Given the description of an element on the screen output the (x, y) to click on. 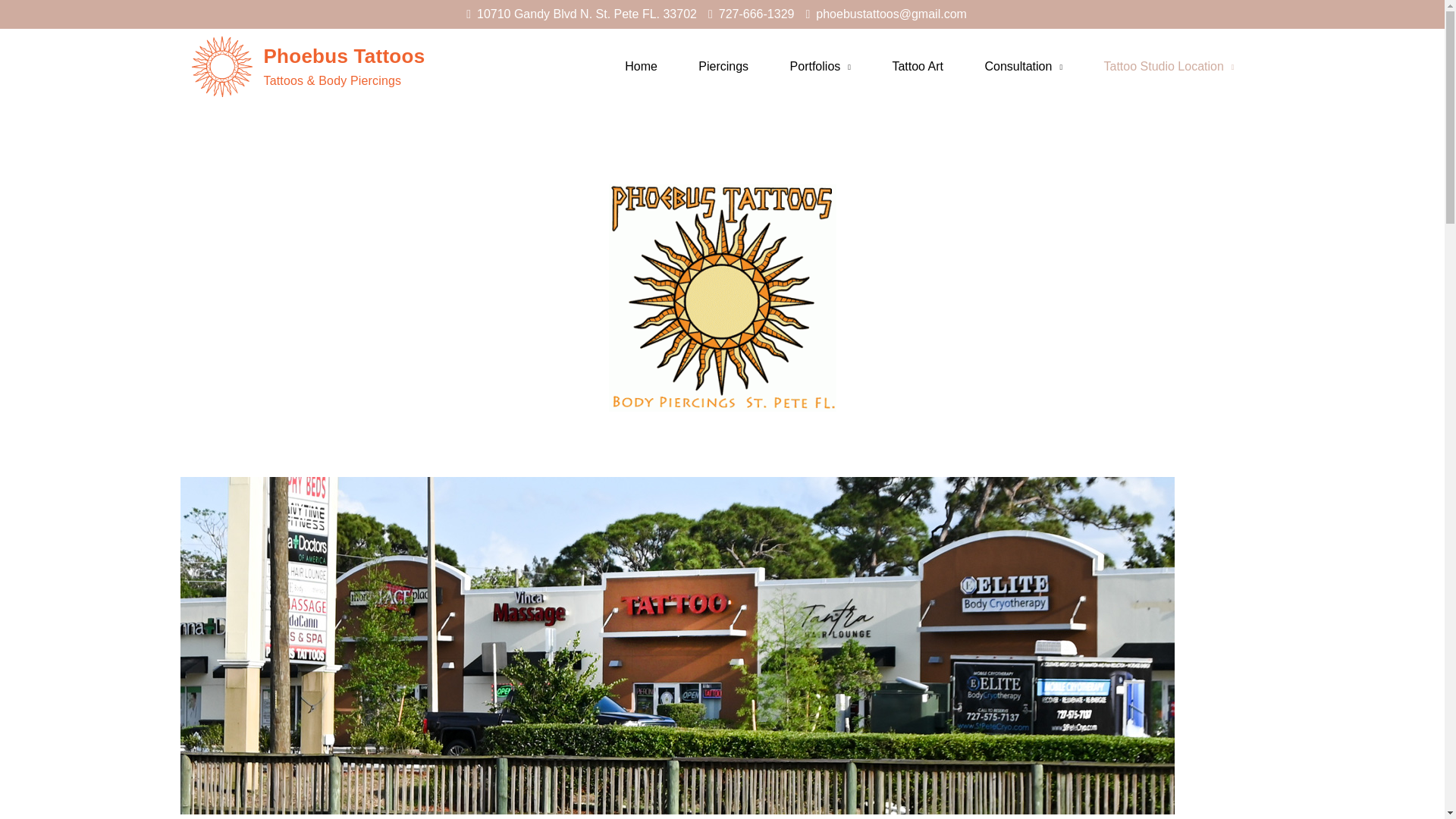
Phoebus Tattoos (344, 56)
Portfolios (820, 66)
Tattoo Art (917, 66)
Tattoo Studio Location (1168, 66)
10710 Gandy Blvd N. St. Pete FL. 33702 (581, 13)
727-666-1329 (750, 13)
Home (641, 66)
Piercings (723, 66)
Consultation (1023, 66)
